Given the description of an element on the screen output the (x, y) to click on. 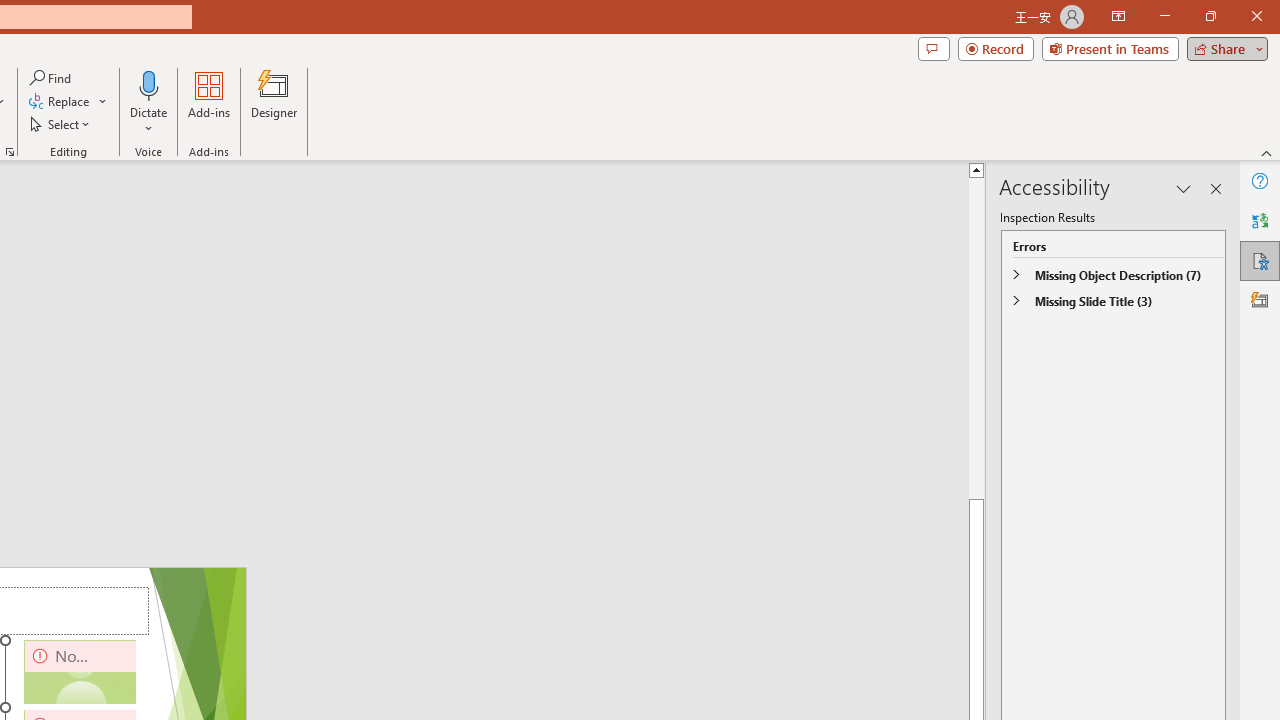
Camera 5, No camera detected. (80, 672)
